Given the description of an element on the screen output the (x, y) to click on. 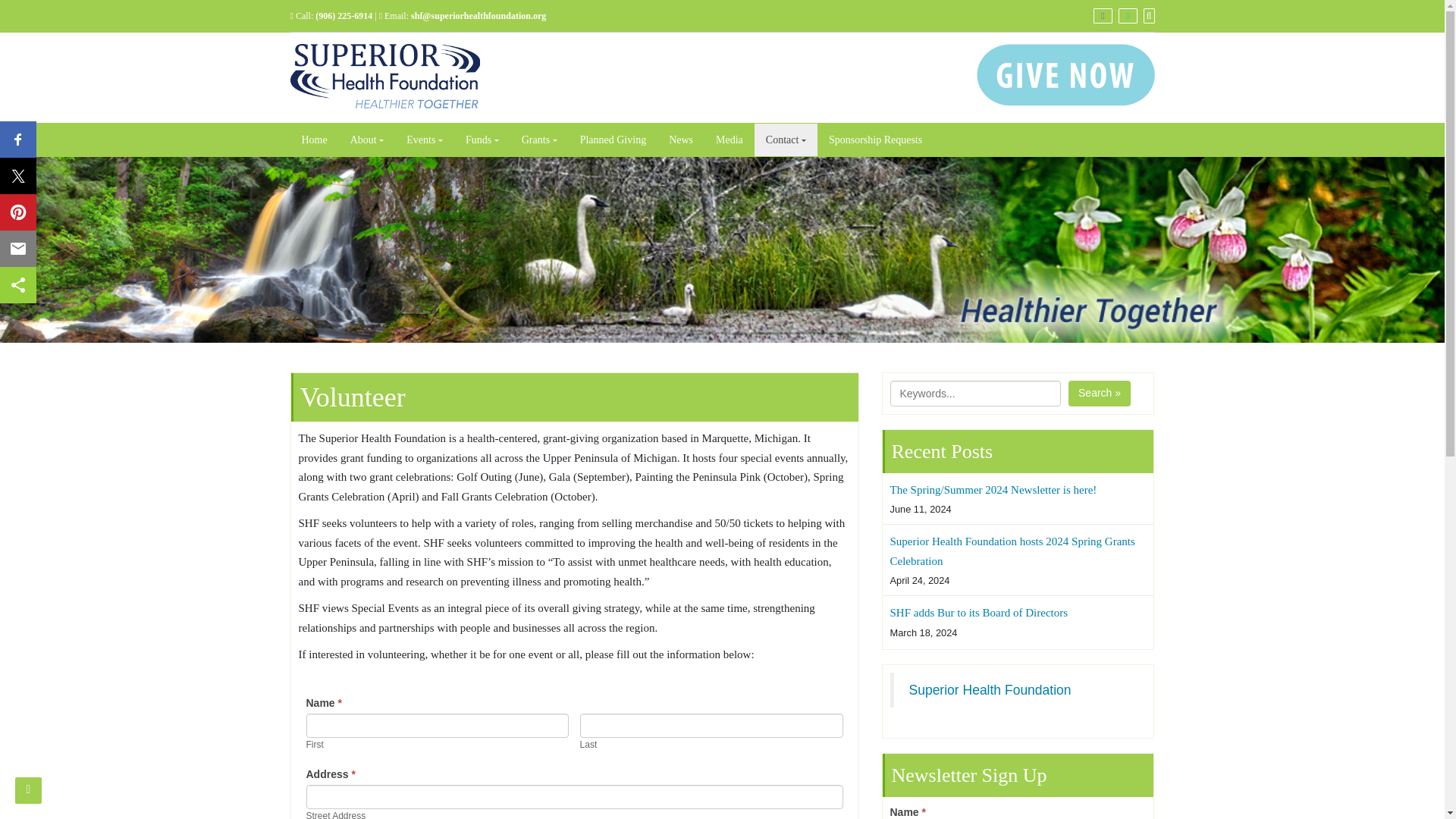
Grants (540, 139)
Contact (785, 139)
About (367, 139)
Media (729, 139)
Events (424, 139)
Home (313, 139)
News (681, 139)
Funds (482, 139)
Planned Giving (613, 139)
